Given the description of an element on the screen output the (x, y) to click on. 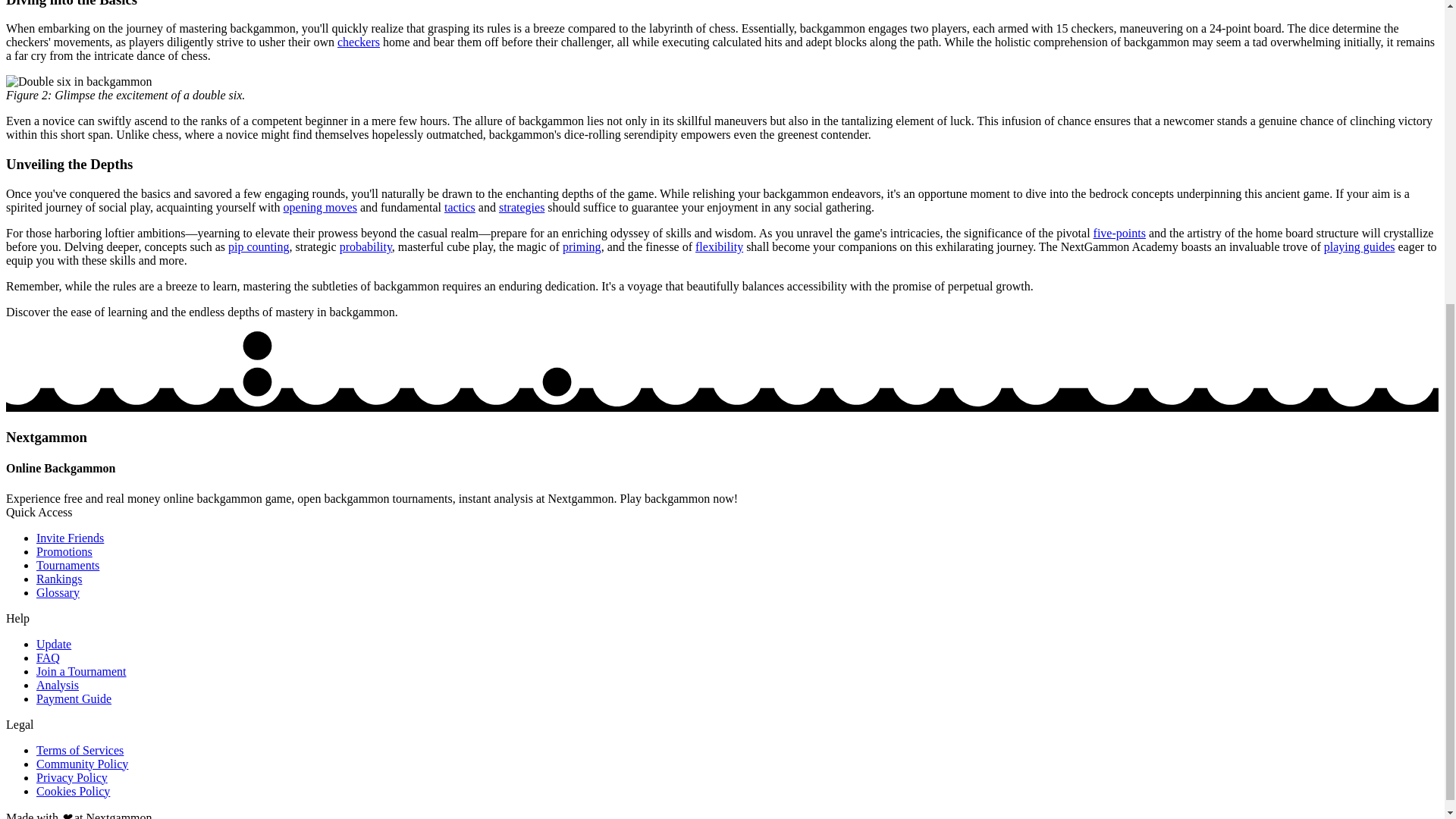
pip counting (258, 246)
Cookies Policy (73, 790)
Rankings (58, 578)
Privacy Policy (71, 777)
five-points (1119, 232)
Glossary (58, 592)
tactics (460, 206)
probability (365, 246)
Terms of Services (79, 749)
Promotions (64, 551)
checkers (358, 42)
playing guides (1358, 246)
Invite Friends (69, 537)
priming (581, 246)
strategies (521, 206)
